Given the description of an element on the screen output the (x, y) to click on. 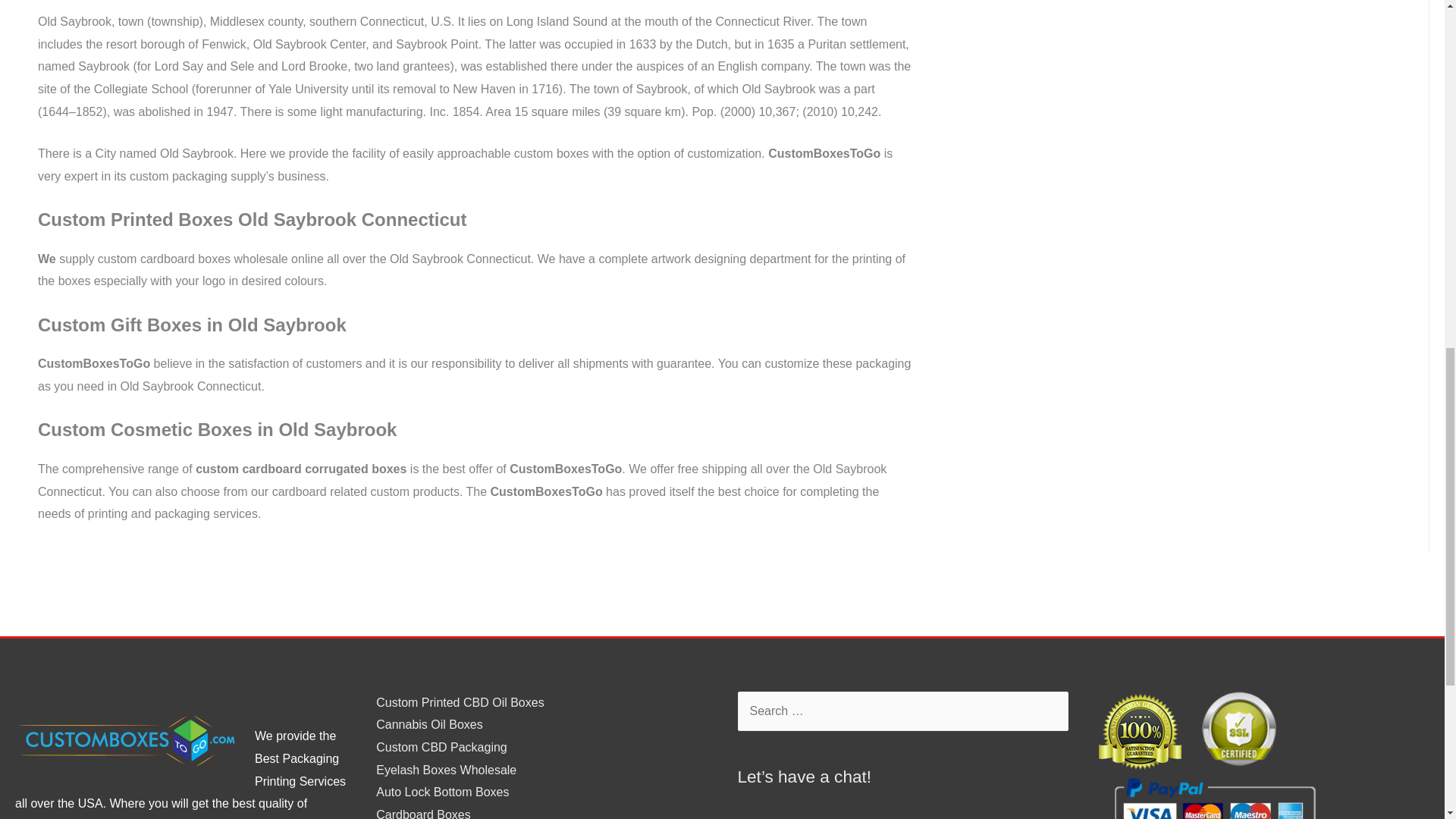
Cardboard Boxes (422, 813)
Custom Printed CBD Oil Boxes (459, 702)
Cannabis Oil Boxes (429, 724)
Custom CBD Packaging (440, 747)
Eyelash Boxes Wholesale (445, 769)
Auto Lock Bottom Boxes (441, 791)
